Given the description of an element on the screen output the (x, y) to click on. 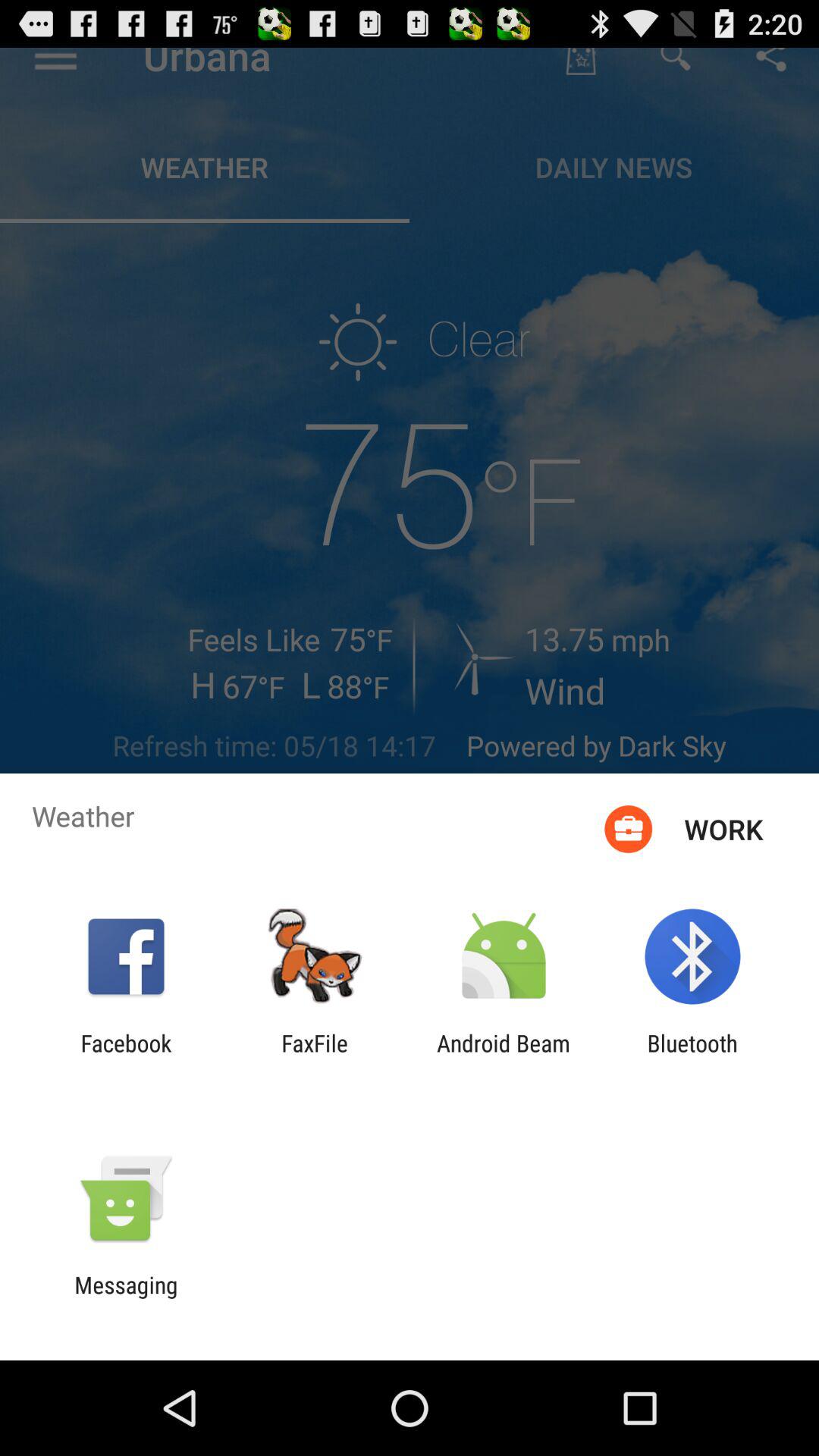
open the item to the right of faxfile item (503, 1056)
